Given the description of an element on the screen output the (x, y) to click on. 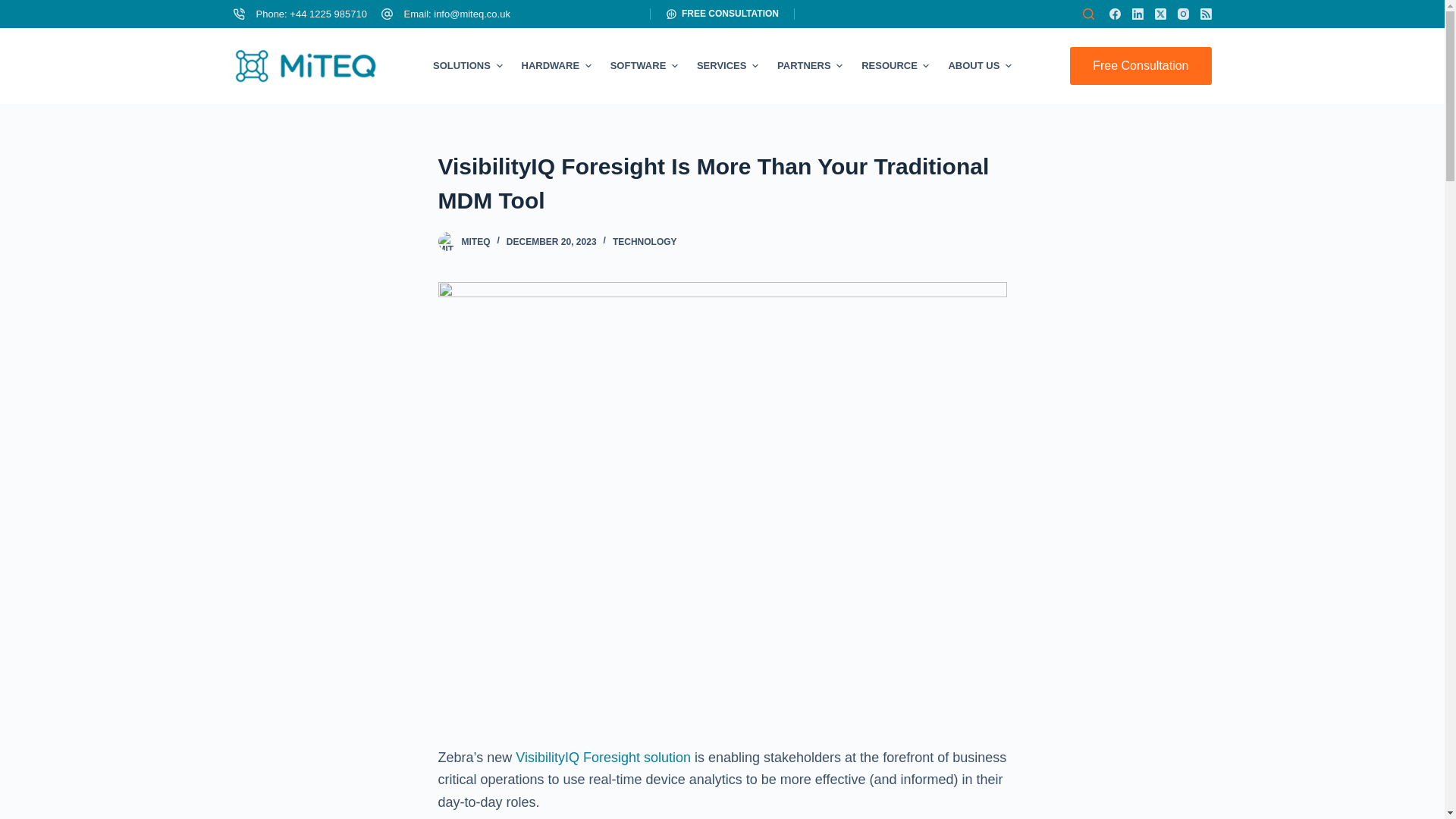
Posts by Miteq (475, 241)
Skip to content (15, 7)
